Given the description of an element on the screen output the (x, y) to click on. 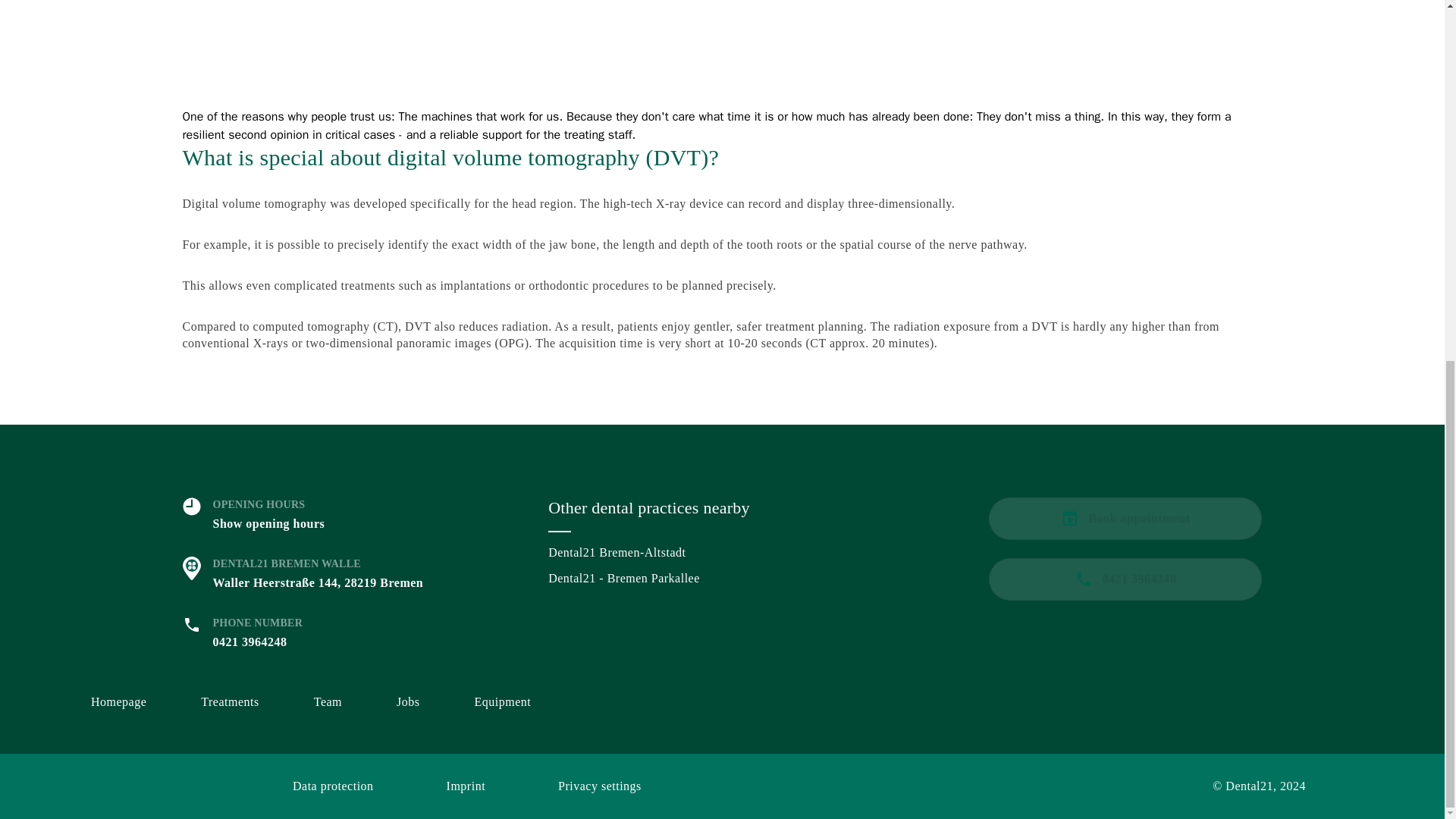
Treatments (229, 701)
Jobs (407, 701)
Team (328, 701)
Homepage (118, 701)
Equipment (502, 701)
Dental21 - Bremen Parkallee (722, 578)
Book appointment (1125, 518)
Dental21 Bremen-Altstadt (722, 552)
0421 3964248 (1125, 578)
Data protection (333, 786)
